Given the description of an element on the screen output the (x, y) to click on. 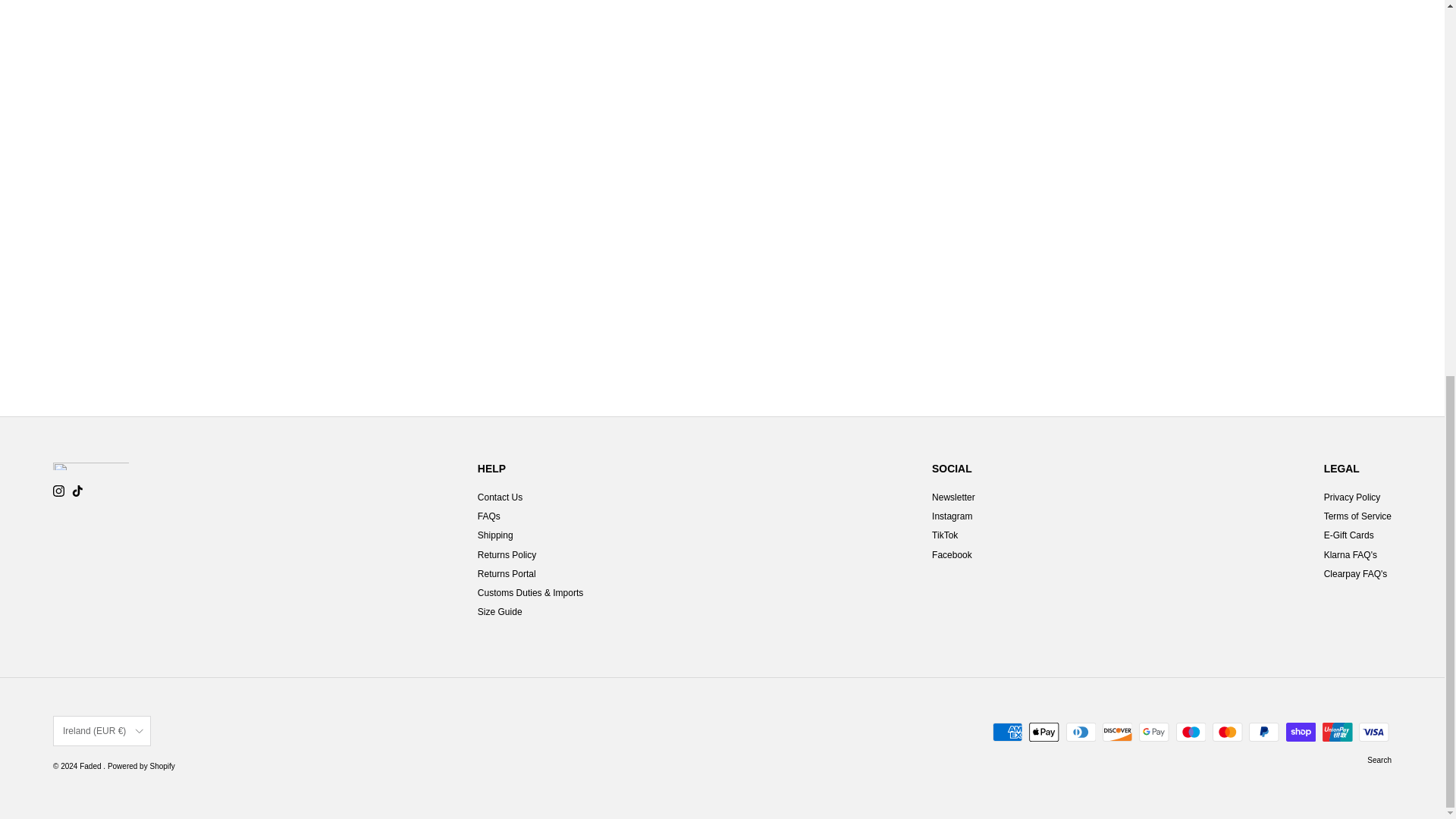
Google Pay (1153, 732)
Visa (1373, 732)
Discover (1117, 732)
Shop Pay (1300, 732)
Faded  on TikTok (76, 490)
Diners Club (1080, 732)
American Express (1007, 732)
Union Pay (1337, 732)
Maestro (1190, 732)
Apple Pay (1043, 732)
